Given the description of an element on the screen output the (x, y) to click on. 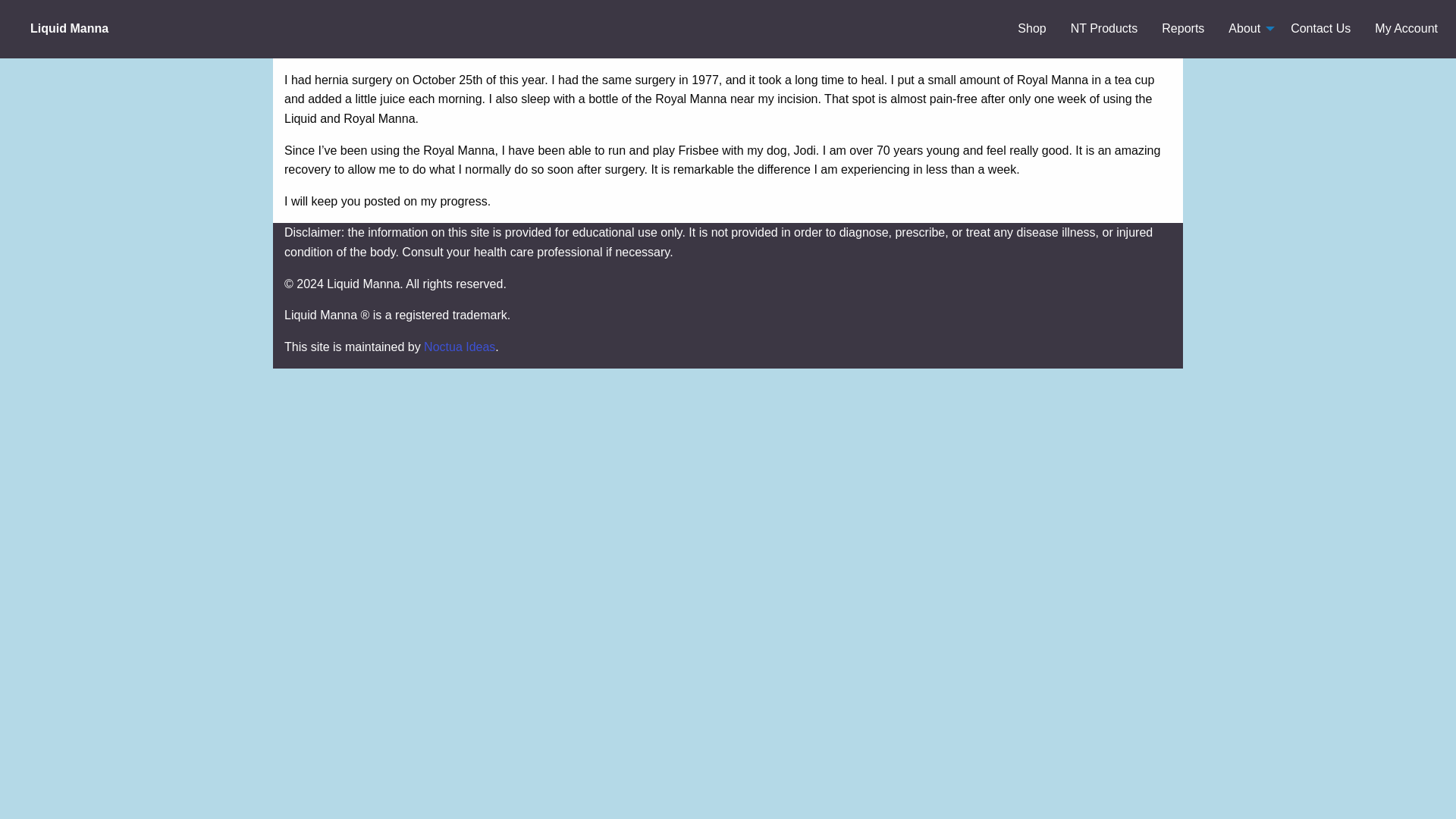
Shop (1032, 28)
Noctua Ideas (459, 346)
Liquid Manna (68, 28)
Contact Us (1320, 28)
About (1246, 28)
My Account (1406, 28)
NT Products (1104, 28)
Reports (1182, 28)
